Given the description of an element on the screen output the (x, y) to click on. 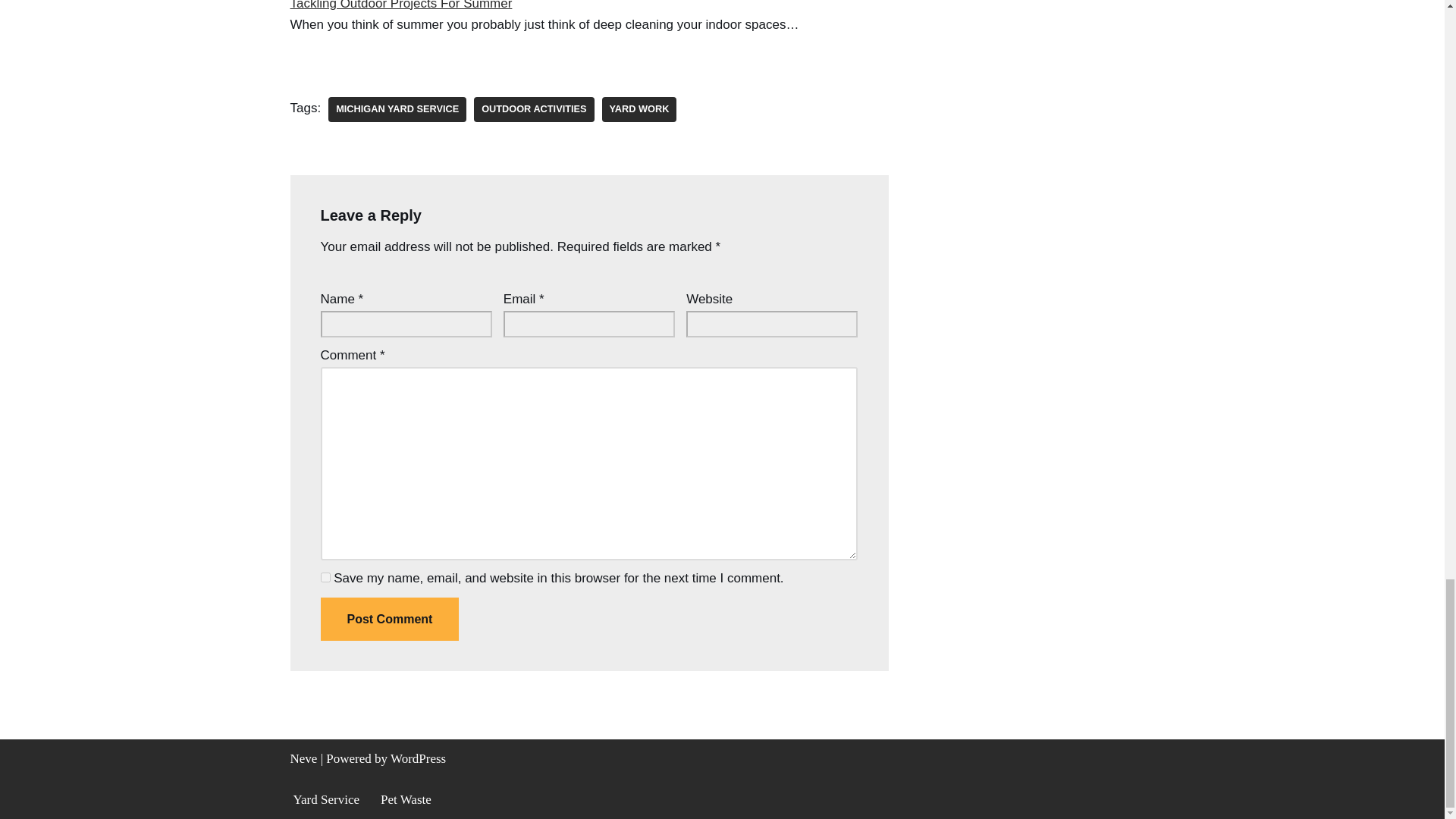
yard work (639, 109)
yes (325, 577)
michigan yard service (397, 109)
outdoor activities (534, 109)
Post Comment (389, 619)
